Given the description of an element on the screen output the (x, y) to click on. 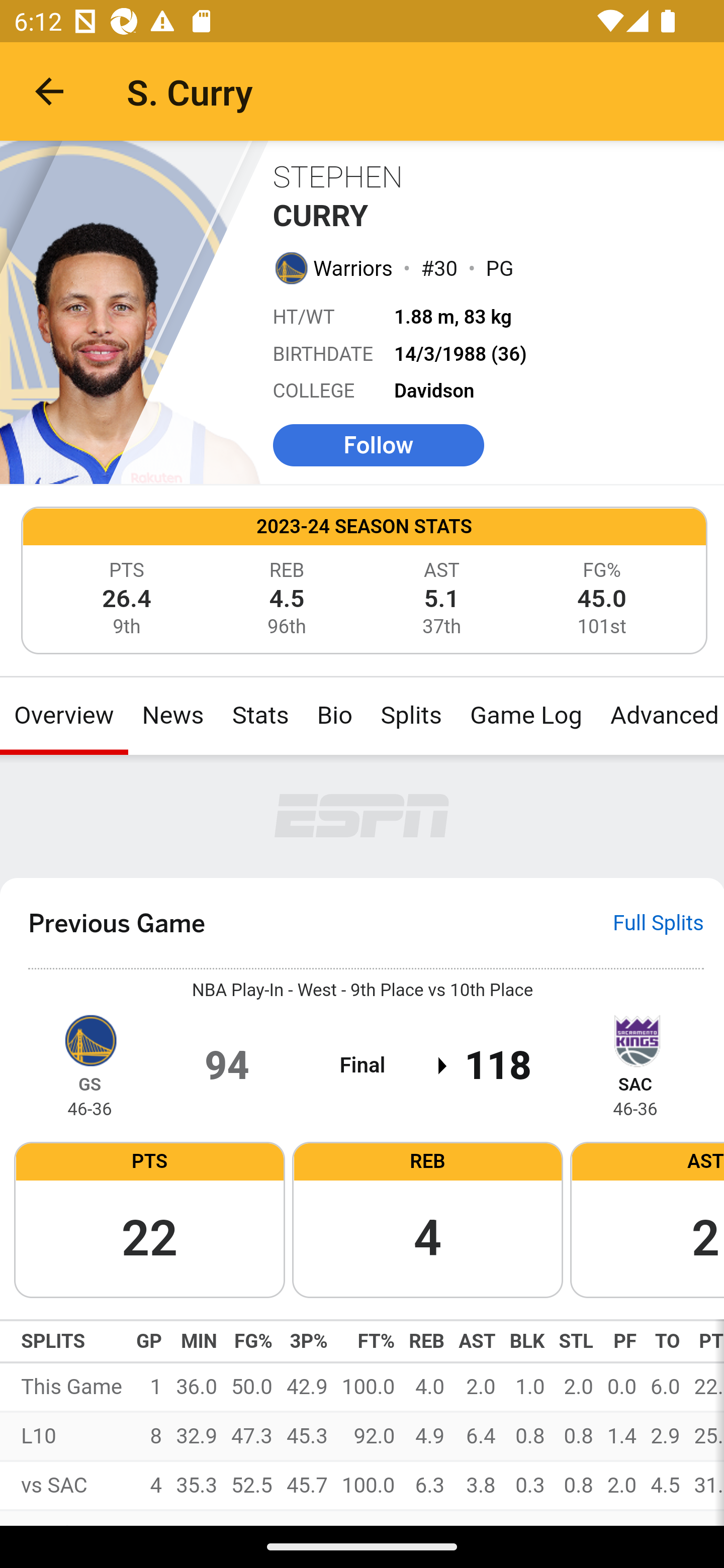
back.button (49, 90)
Golden State Warriors (289, 267)
Warriors (353, 267)
Davidson (433, 390)
Follow (377, 444)
Overview (64, 715)
News (172, 715)
Stats (260, 715)
Bio (334, 715)
Splits (411, 715)
Game Log (524, 715)
Advanced Stats (659, 715)
Full Splits (658, 923)
Golden State Warriors (89, 1039)
Sacramento Kings (635, 1039)
PTS 22 (149, 1218)
REB 4 (427, 1218)
